Given the description of an element on the screen output the (x, y) to click on. 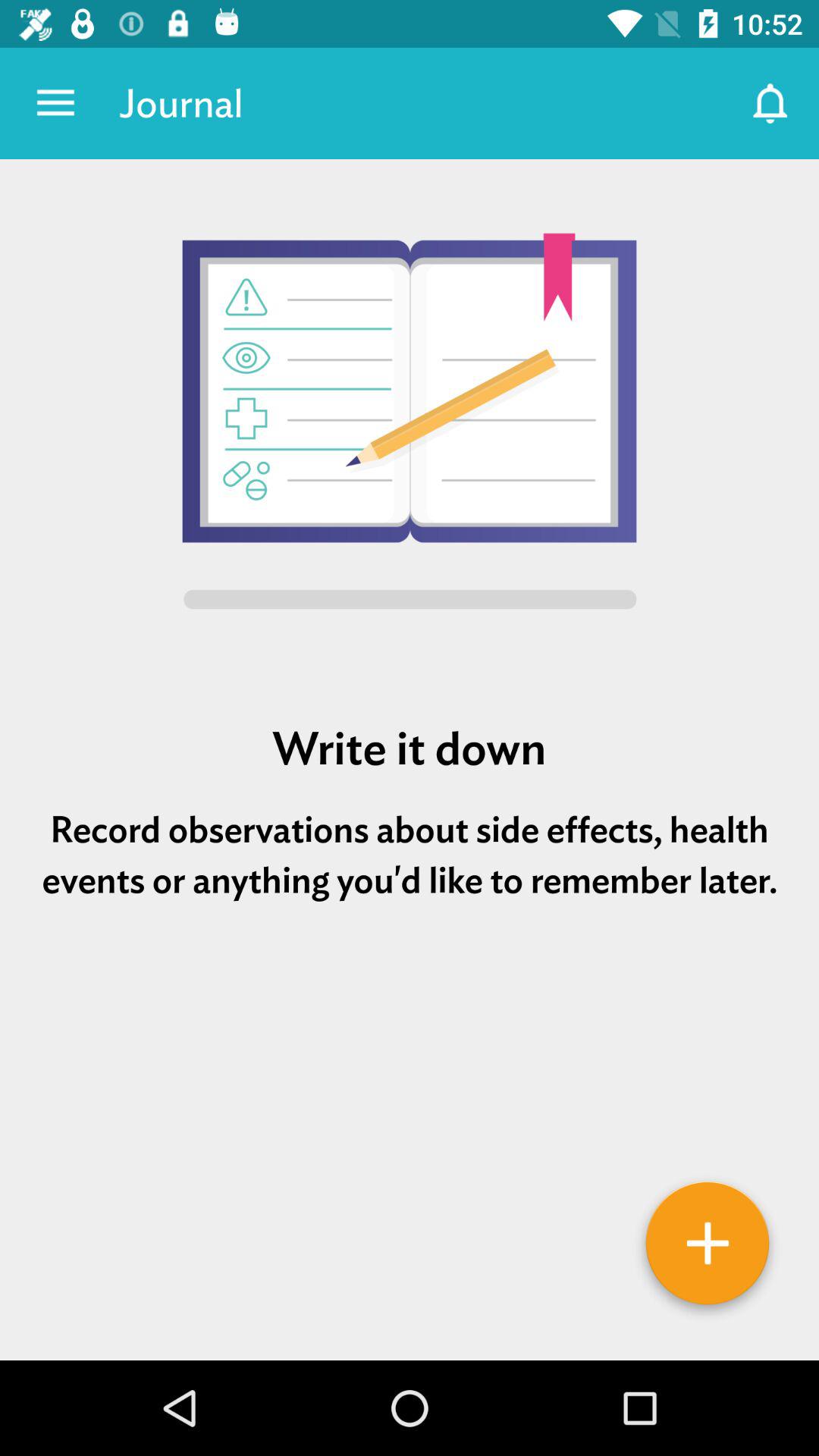
choose write it down (409, 748)
